Given the description of an element on the screen output the (x, y) to click on. 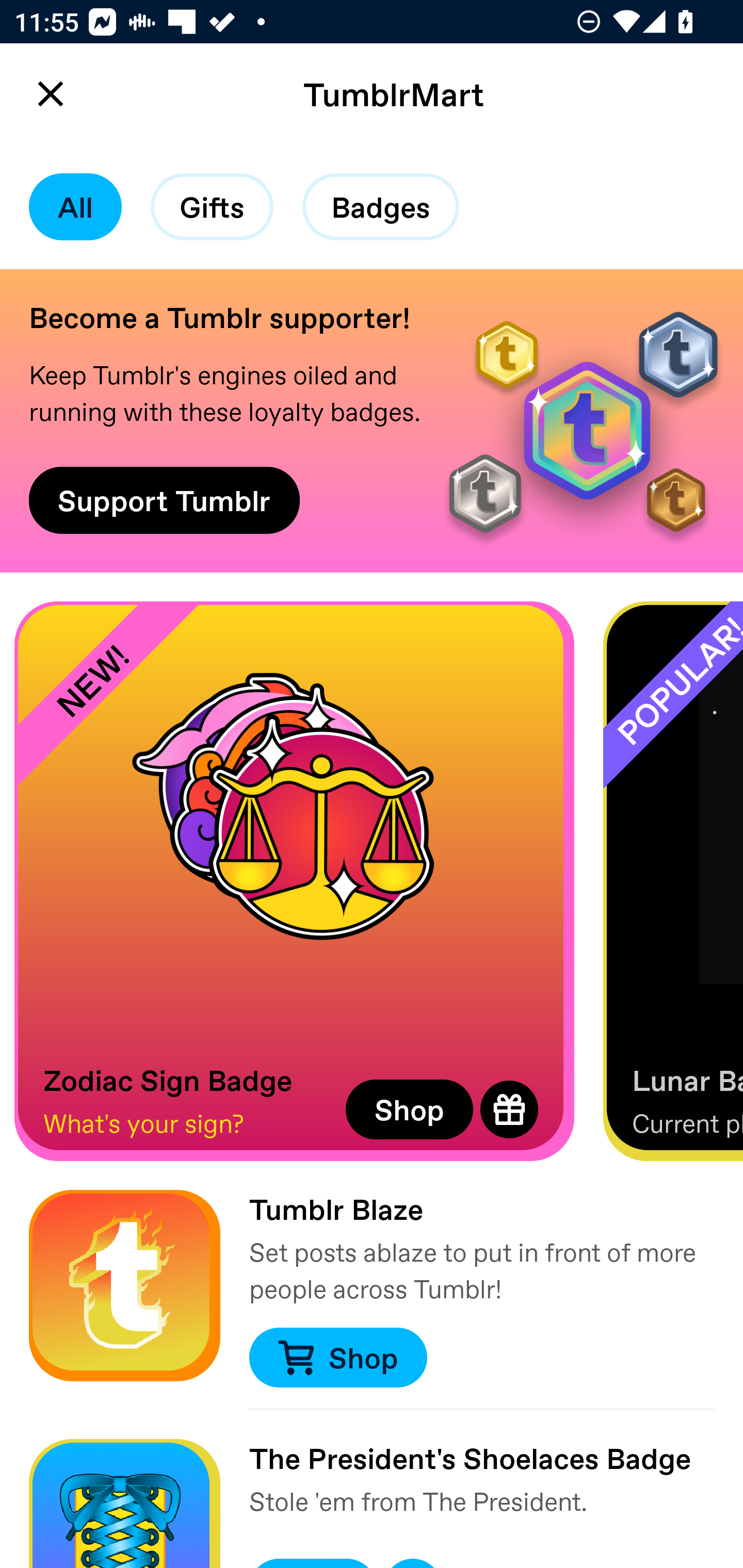
All (74, 206)
Gifts (211, 206)
Badges (380, 206)
Support Tumblr (163, 500)
NEW! Zodiac Sign Badge What's your sign? Shop (294, 881)
Shop (409, 1108)
Shop (337, 1357)
